Given the description of an element on the screen output the (x, y) to click on. 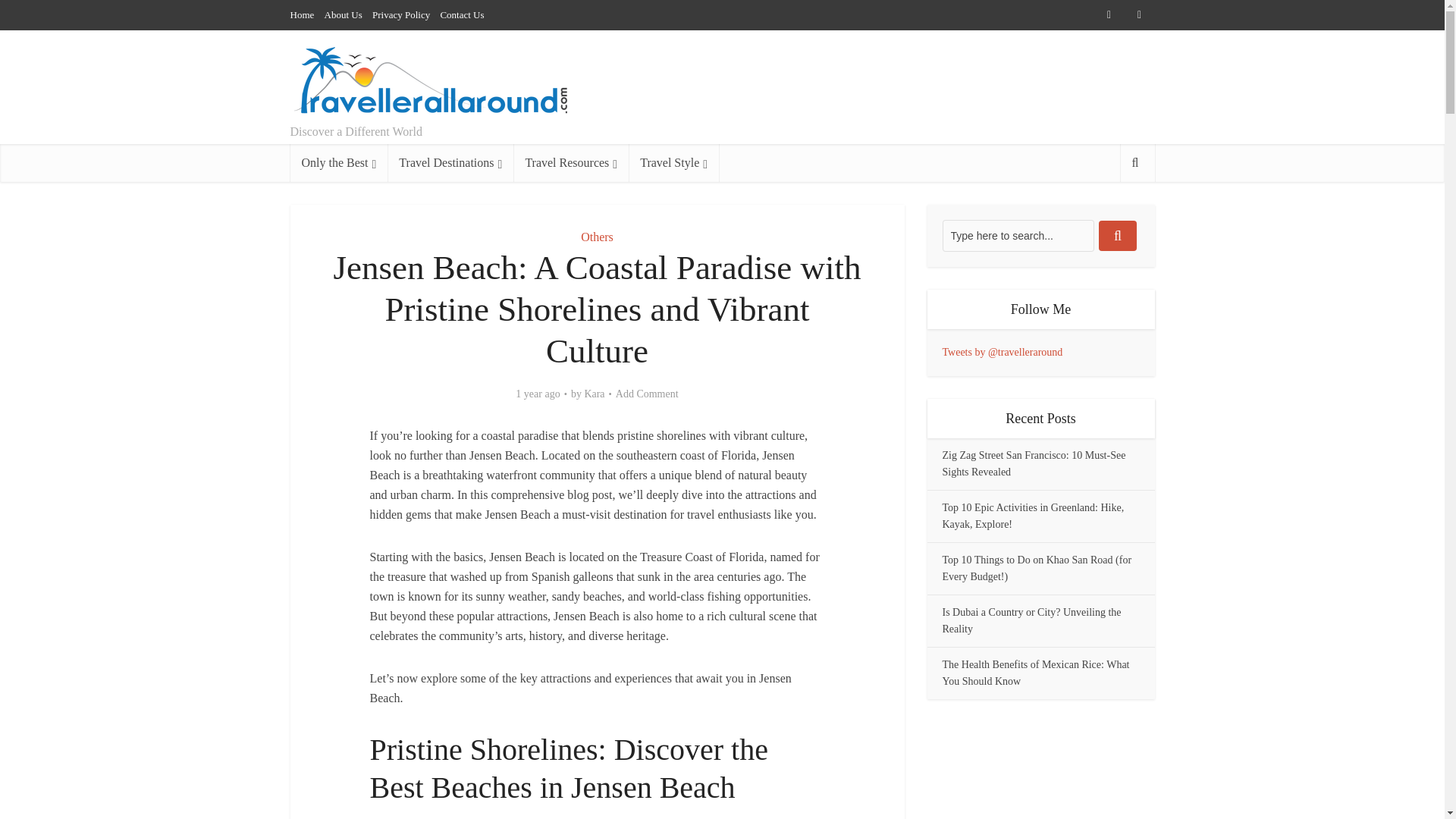
Traveller All Around (431, 79)
Type here to search... (1017, 235)
Only the Best (338, 162)
Type here to search... (1017, 235)
Privacy Policy (400, 14)
Travel Resources (570, 162)
Add Comment (646, 394)
About Us (343, 14)
Kara (593, 394)
Travel Style (673, 162)
Travel Destinations (450, 162)
Contact Us (461, 14)
Others (596, 236)
Home (301, 14)
